Given the description of an element on the screen output the (x, y) to click on. 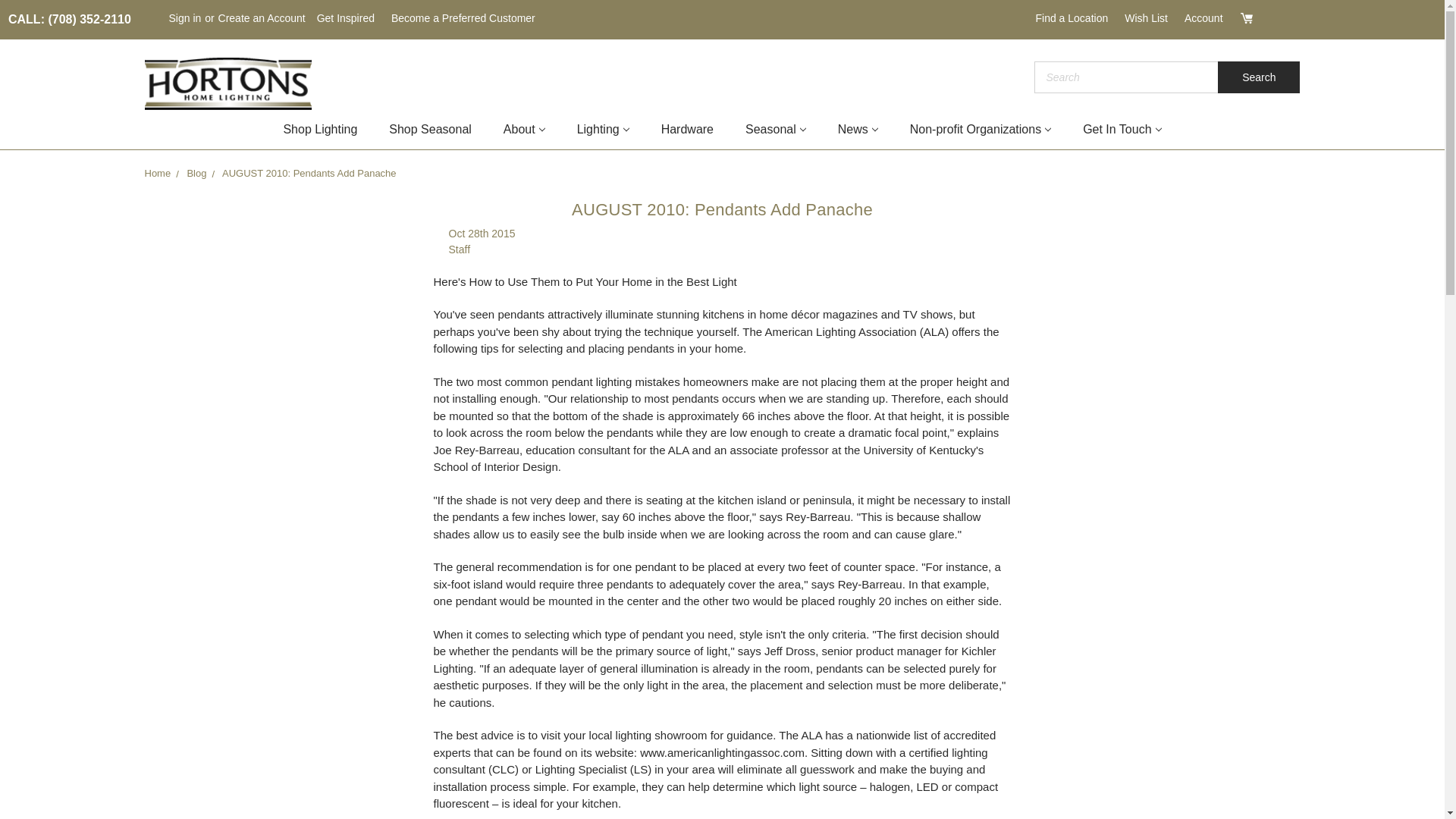
Get Inspired (345, 18)
Become a Preferred Customer (462, 18)
Sign in (184, 18)
Search (1258, 77)
Create an Account (261, 18)
Wish List (1146, 18)
Account (1203, 18)
Hortons Home Lighting (227, 83)
Find a Location (1071, 18)
